Given the description of an element on the screen output the (x, y) to click on. 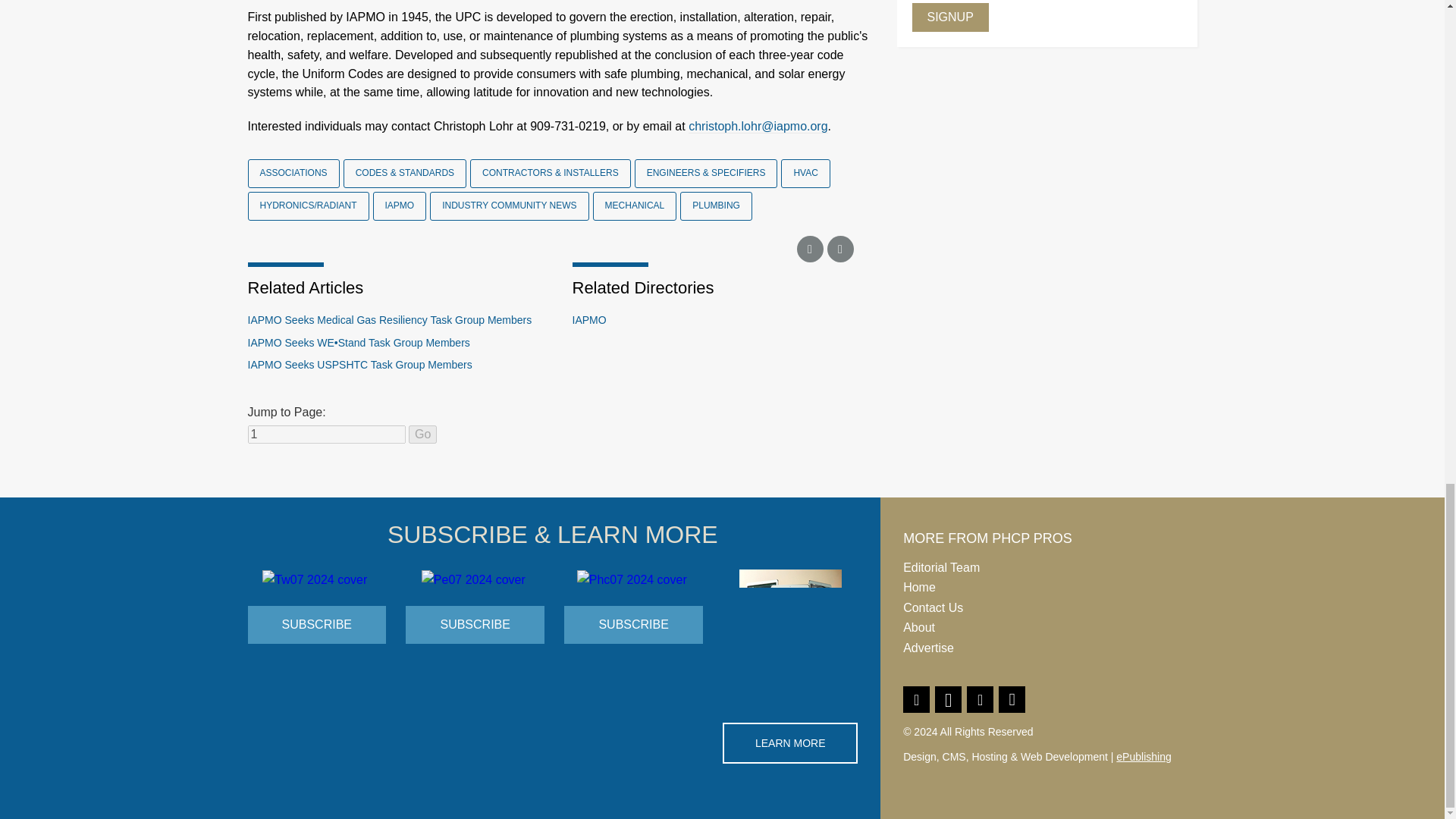
1 (325, 434)
SIGNUP (949, 17)
Go (422, 434)
